Given the description of an element on the screen output the (x, y) to click on. 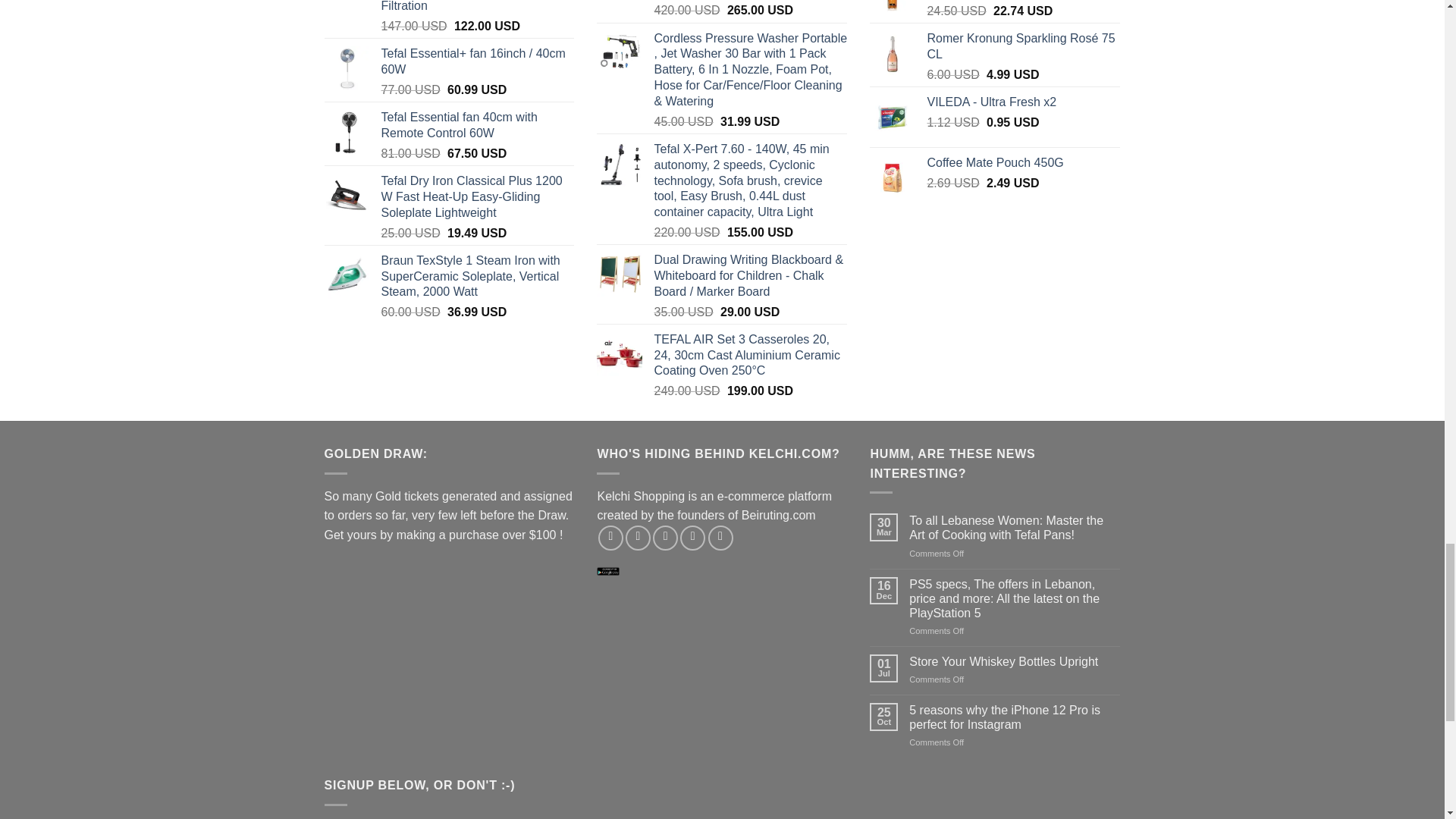
Store Your Whiskey Bottles Upright (1013, 661)
Follow on Facebook (610, 537)
Follow on Instagram (638, 537)
Call us (720, 537)
Follow on Twitter (665, 537)
Send us an email (691, 537)
